Given the description of an element on the screen output the (x, y) to click on. 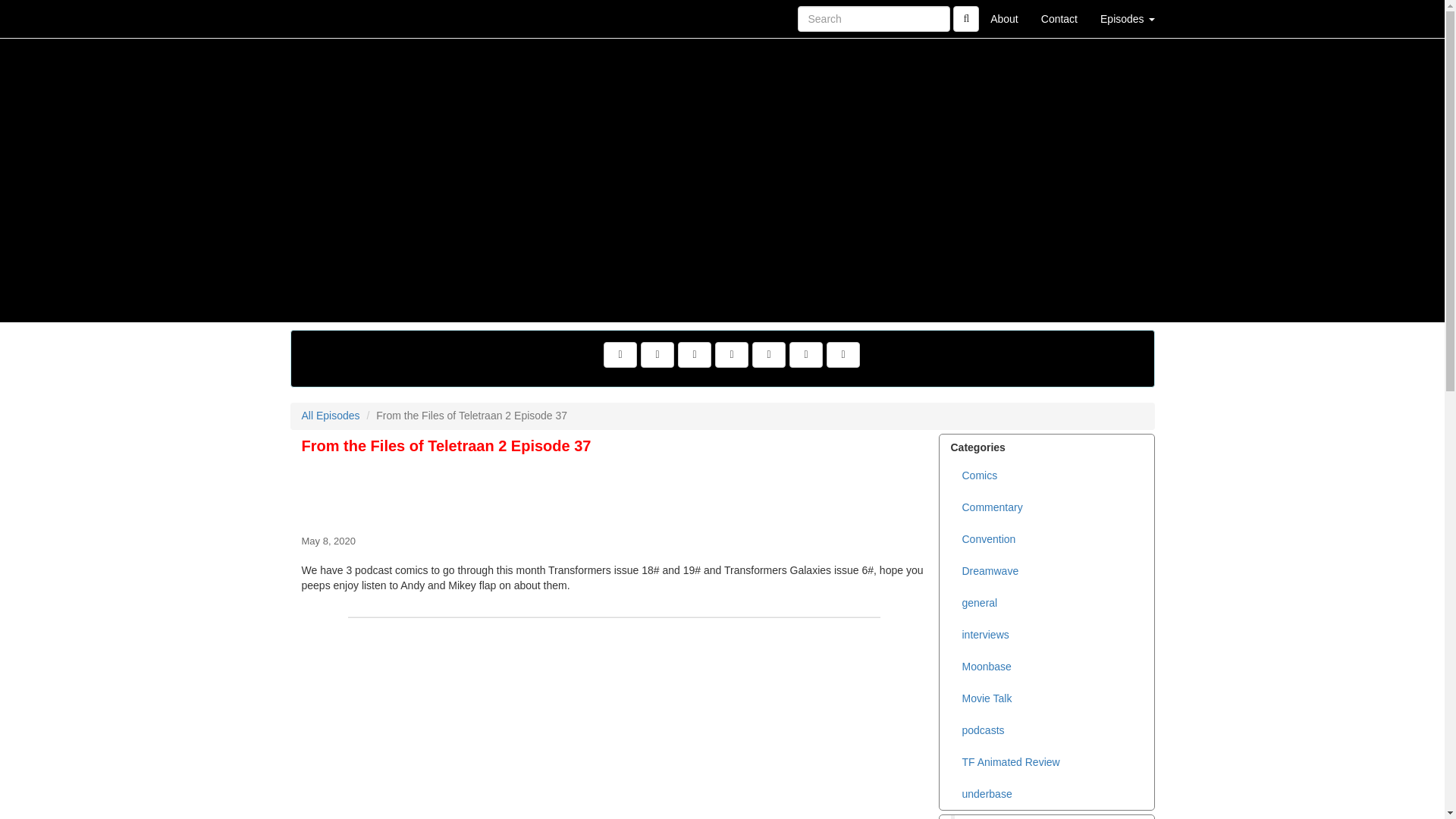
Episodes (1127, 18)
Contact (1059, 18)
About (1003, 18)
Home Page (320, 18)
From the Files of Teletraan 2 Episode 37 (614, 491)
